Given the description of an element on the screen output the (x, y) to click on. 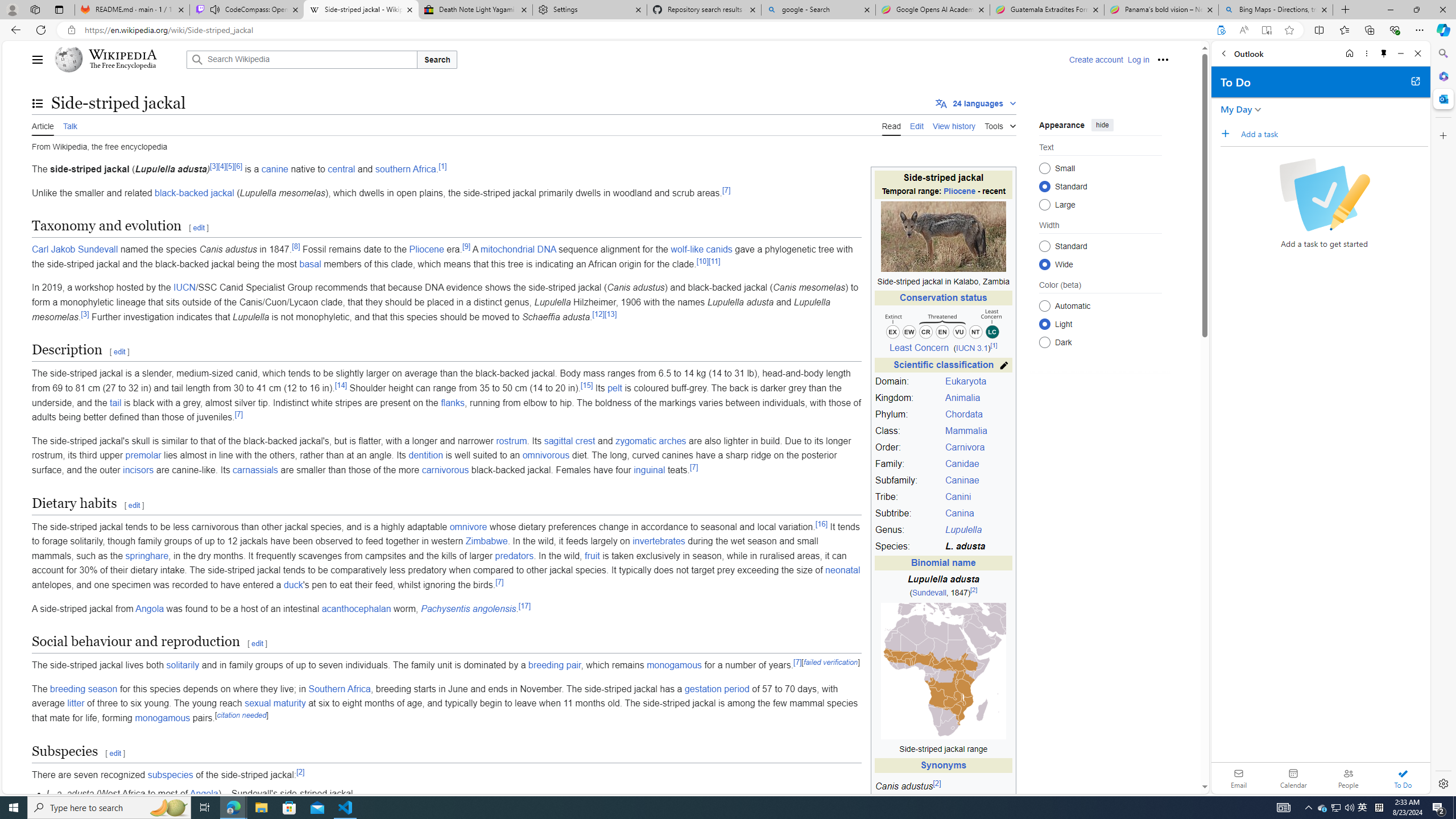
[16] (821, 523)
Standard (1044, 245)
litter (75, 703)
Conservation status (943, 298)
Dark (1044, 341)
Family: (908, 464)
[7] (797, 661)
flanks (452, 402)
fruit (592, 555)
Light (1044, 323)
